Given the description of an element on the screen output the (x, y) to click on. 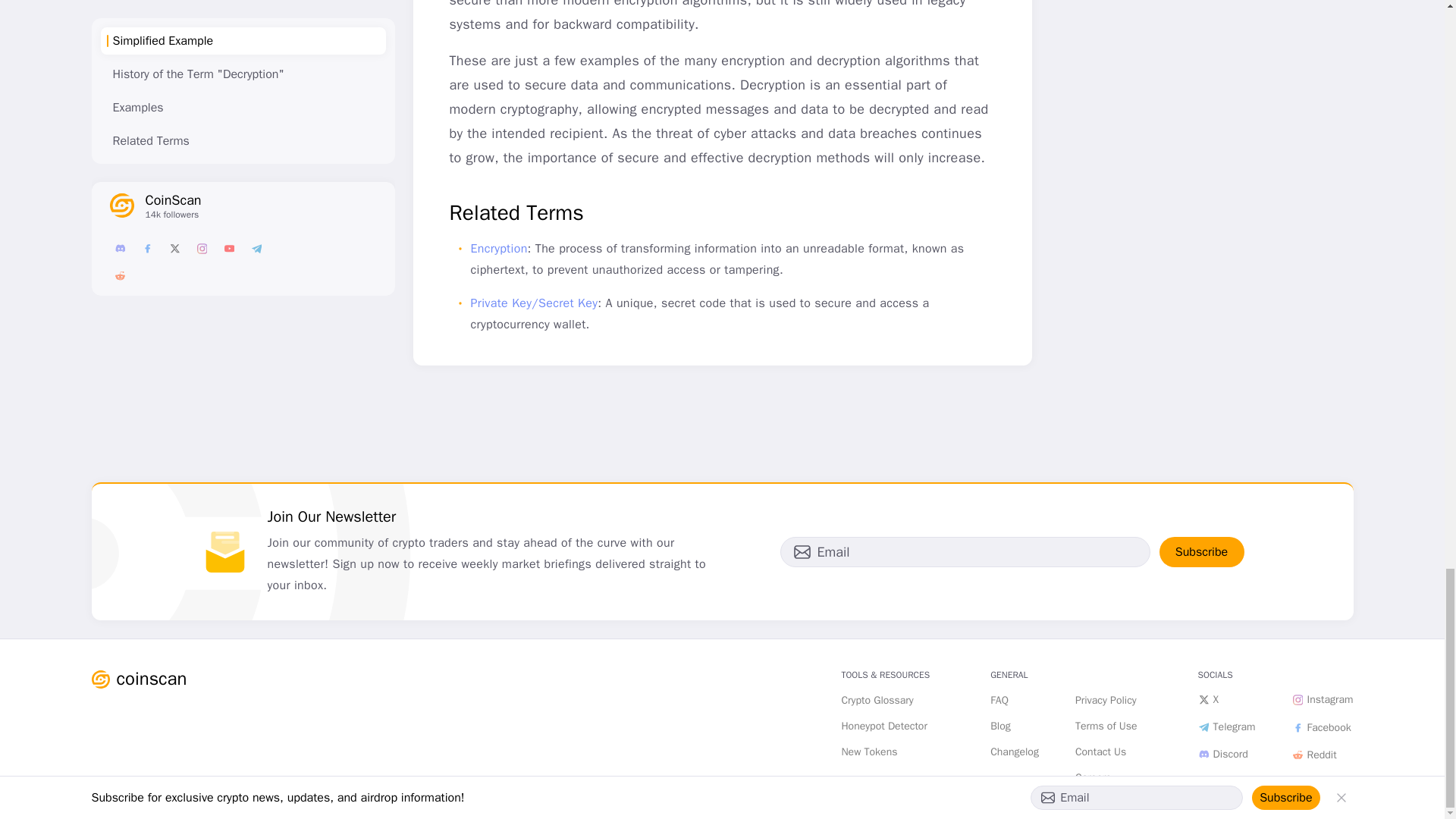
CoinScan faq (999, 700)
CoinScan termsOfUse (1106, 726)
CoinScan glossary (876, 700)
CoinScan changelog (1014, 752)
CoinScan privacyPolicy (1106, 700)
CoinScan newTokens (868, 752)
CoinScan blog (1000, 726)
CoinScan honeypotDetector (884, 726)
